Given the description of an element on the screen output the (x, y) to click on. 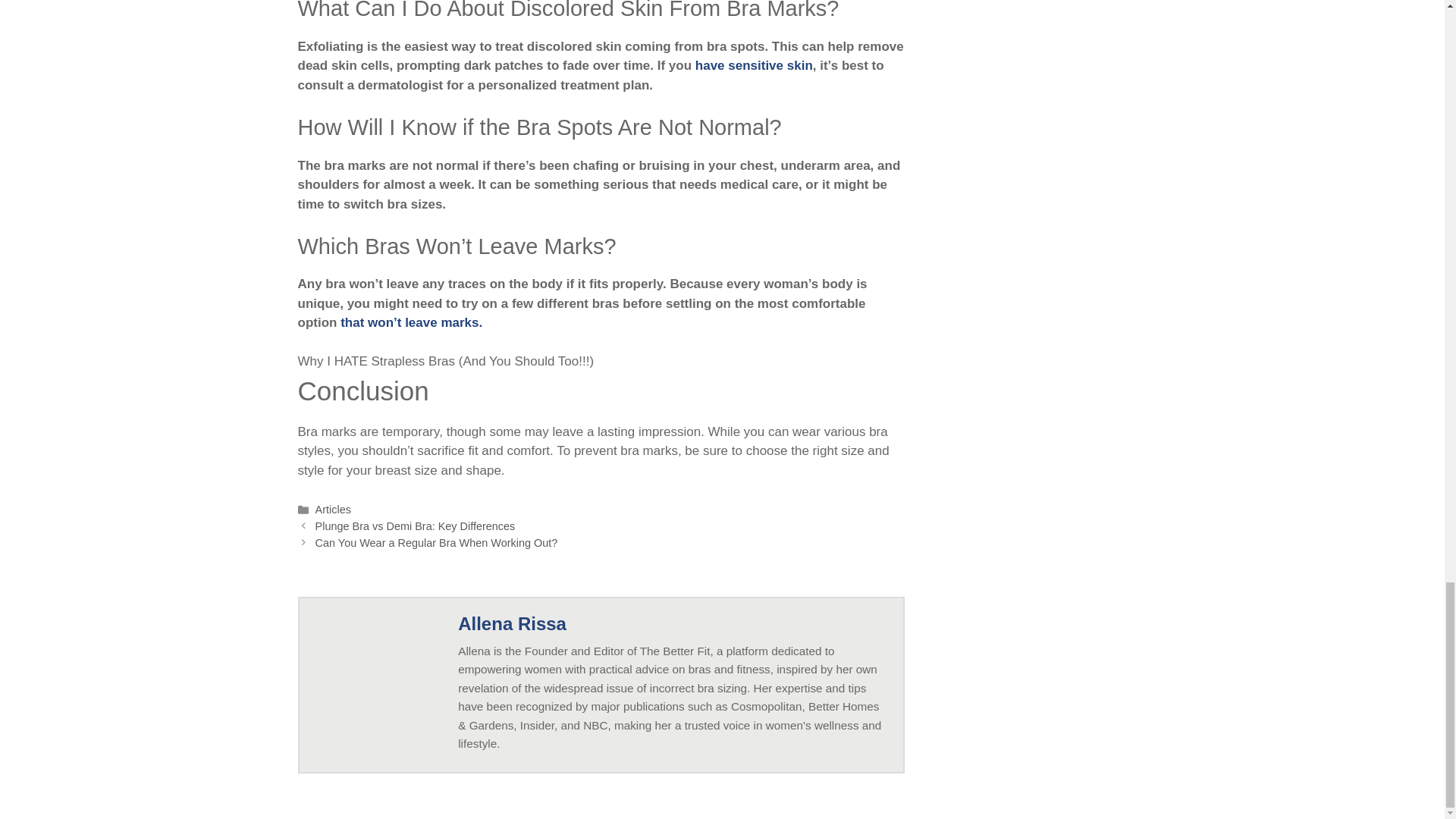
have sensitive skin (753, 65)
Author Links (512, 623)
